Given the description of an element on the screen output the (x, y) to click on. 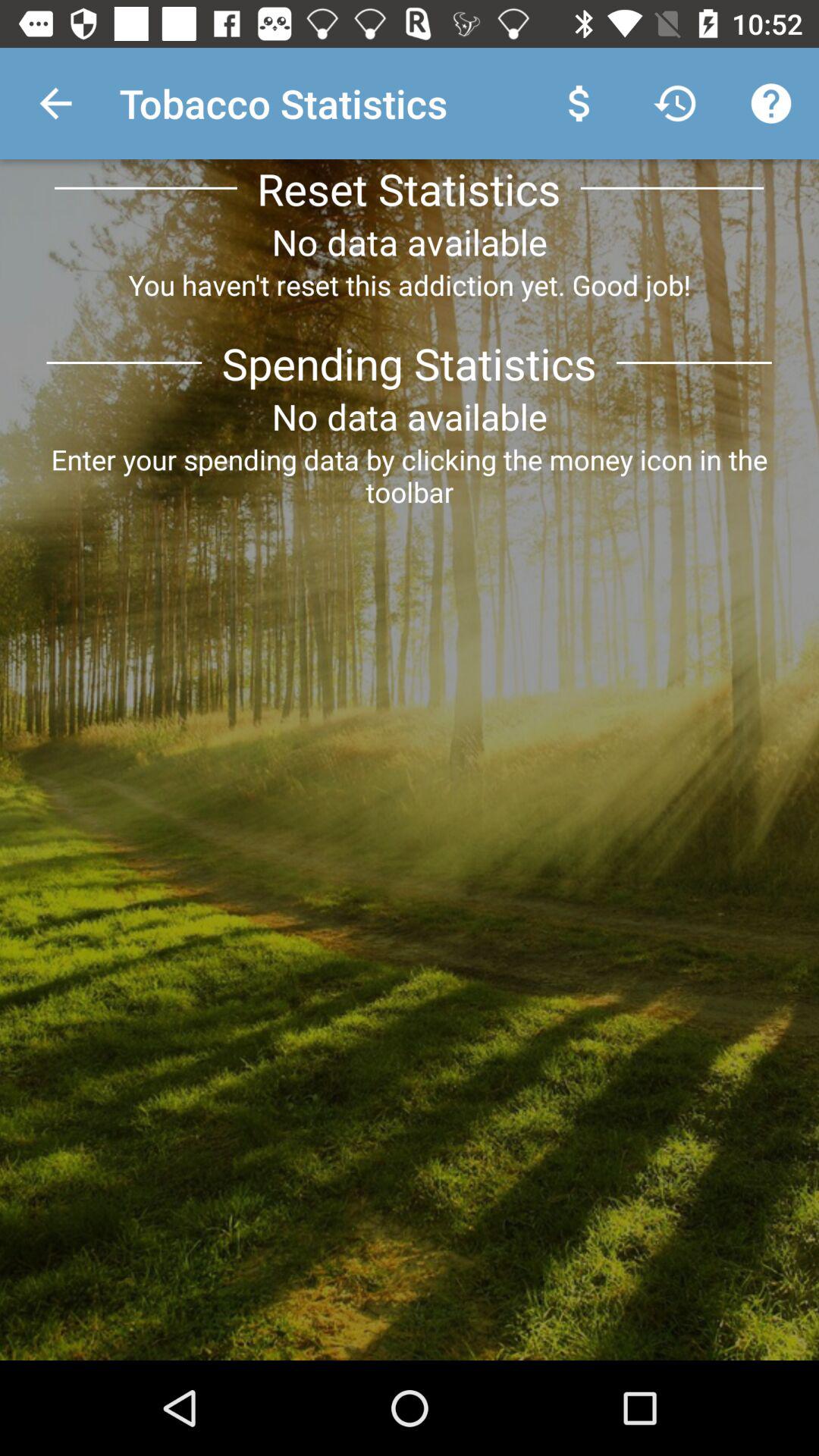
select the second icon from right corner (675, 103)
